Given the description of an element on the screen output the (x, y) to click on. 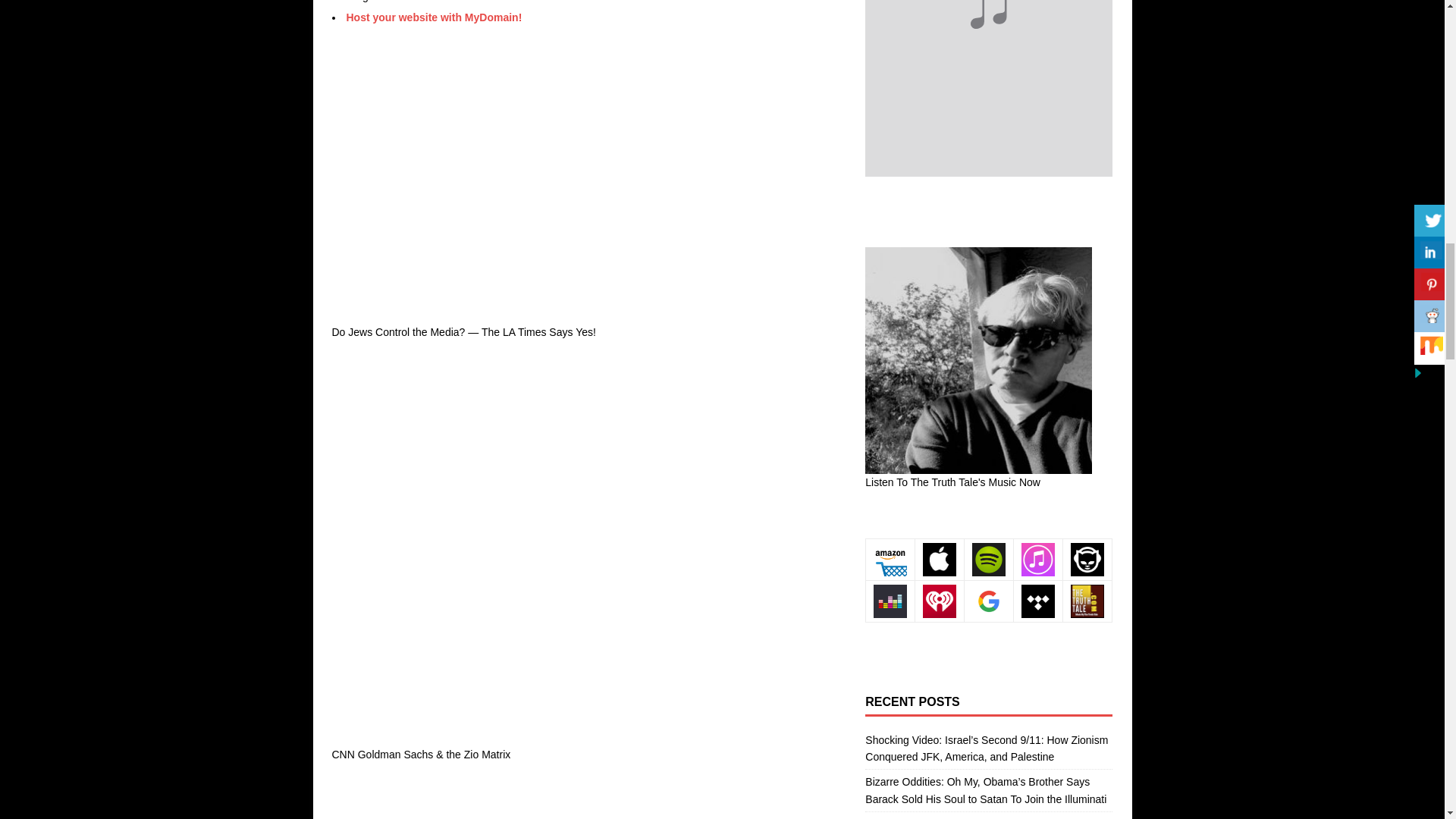
Host your website with MyDomain! (433, 17)
